Given the description of an element on the screen output the (x, y) to click on. 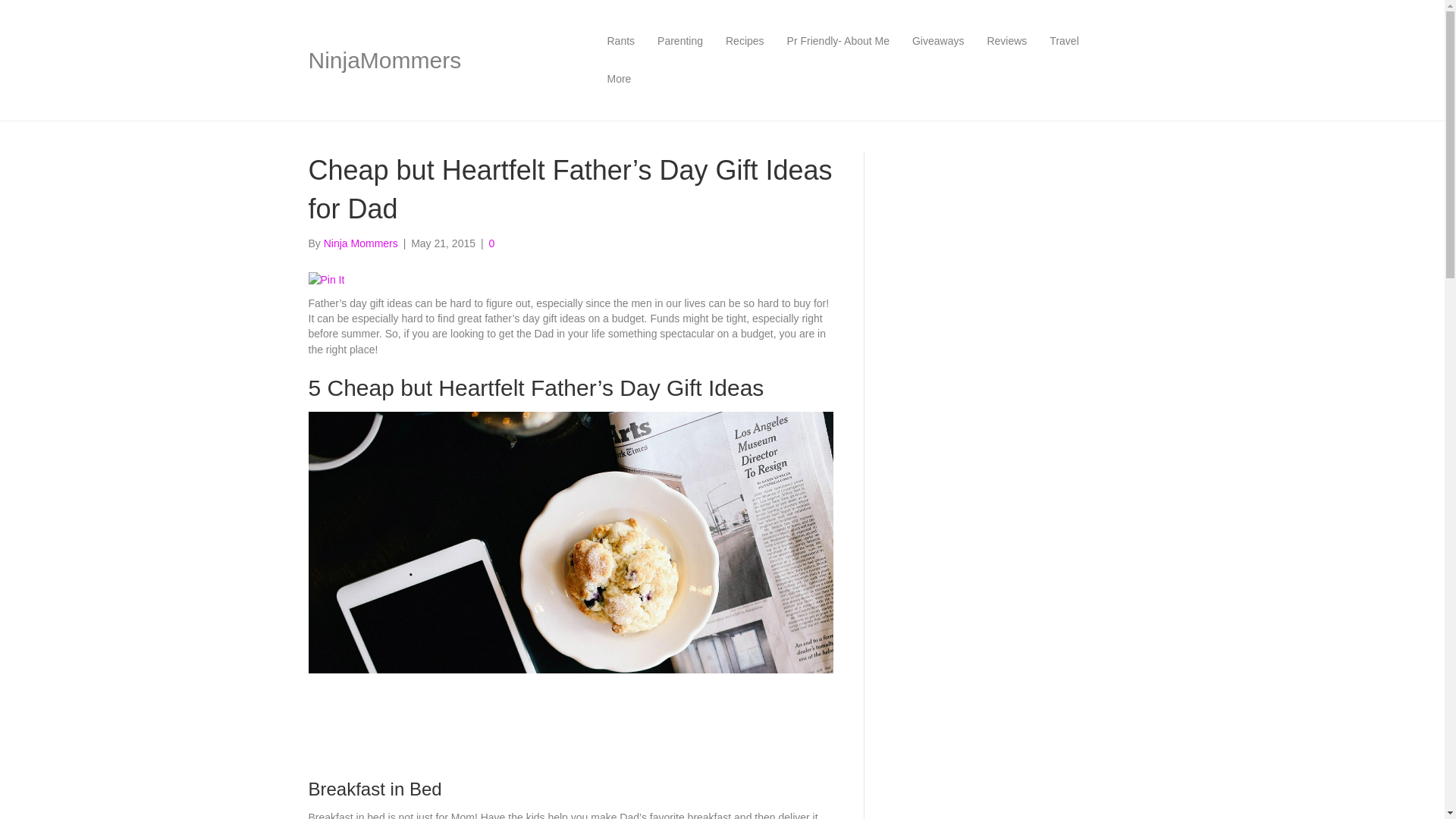
Giveaways (938, 41)
Parenting (680, 41)
More (618, 79)
Rants (620, 41)
Pin It (325, 279)
Pr Friendly- About Me (838, 41)
Reviews (1006, 41)
Recipes (745, 41)
NinjaMommers (439, 60)
Travel (1063, 41)
